Given the description of an element on the screen output the (x, y) to click on. 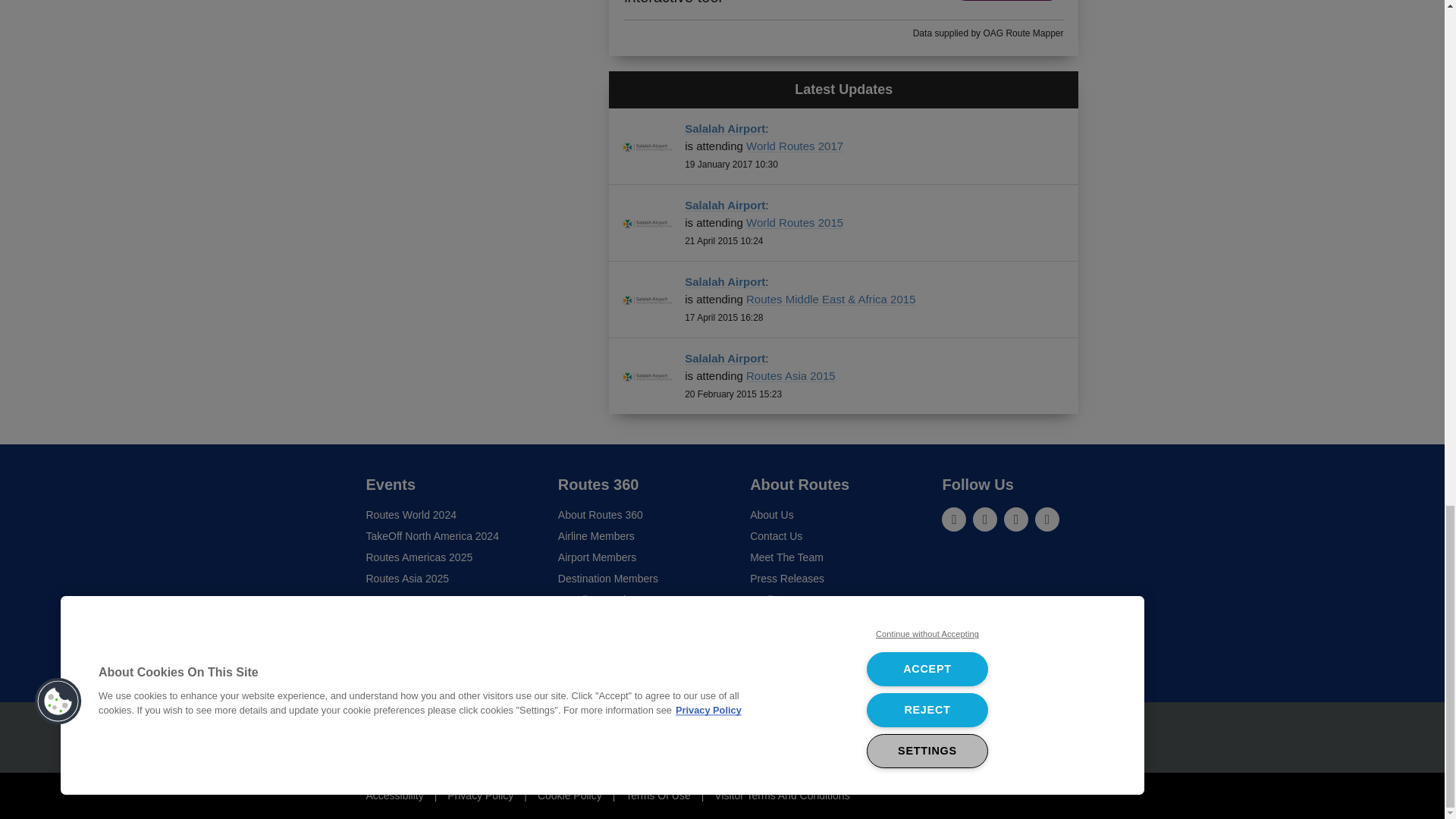
LinkedIn (954, 518)
YouTube (1047, 518)
Facebook (1015, 518)
